Given the description of an element on the screen output the (x, y) to click on. 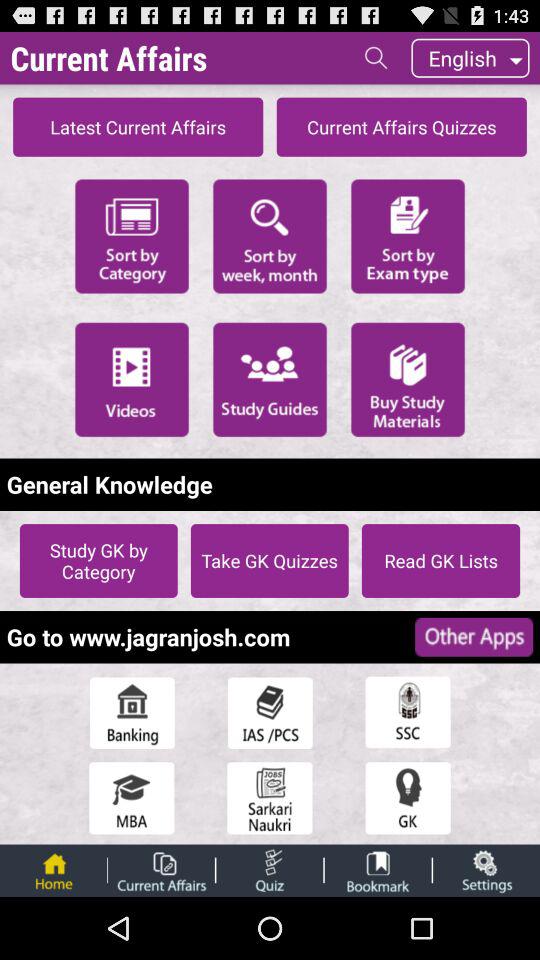
choose the take gk quizzes icon (269, 560)
